Given the description of an element on the screen output the (x, y) to click on. 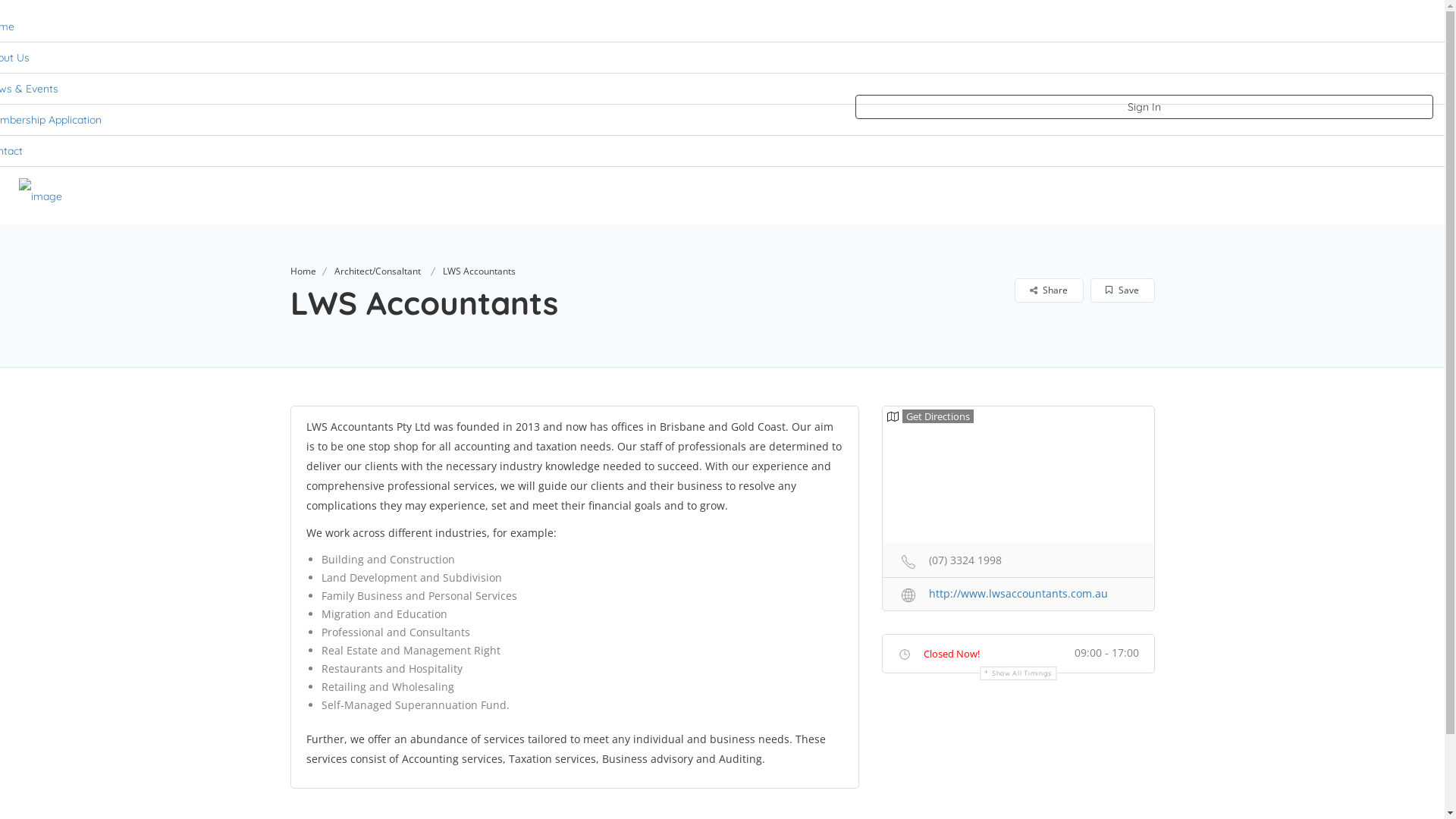
Membership Application Element type: text (1217, 194)
Show All Timings Element type: text (1017, 673)
News & Events Element type: text (1079, 194)
Get Directions Element type: text (930, 416)
Home Element type: text (302, 270)
Sign In Element type: text (1144, 106)
Save Element type: text (1120, 290)
Submit Element type: text (414, 502)
Architect/Consaltant Element type: text (376, 270)
Contact Element type: text (1336, 194)
About Us Element type: text (983, 194)
http://www.lwsaccountants.com.au Element type: text (1018, 592)
Home Element type: text (911, 194)
Share Element type: text (1047, 290)
Closed Now! Element type: text (951, 653)
(07) 3324 1998 Element type: text (1018, 559)
